Given the description of an element on the screen output the (x, y) to click on. 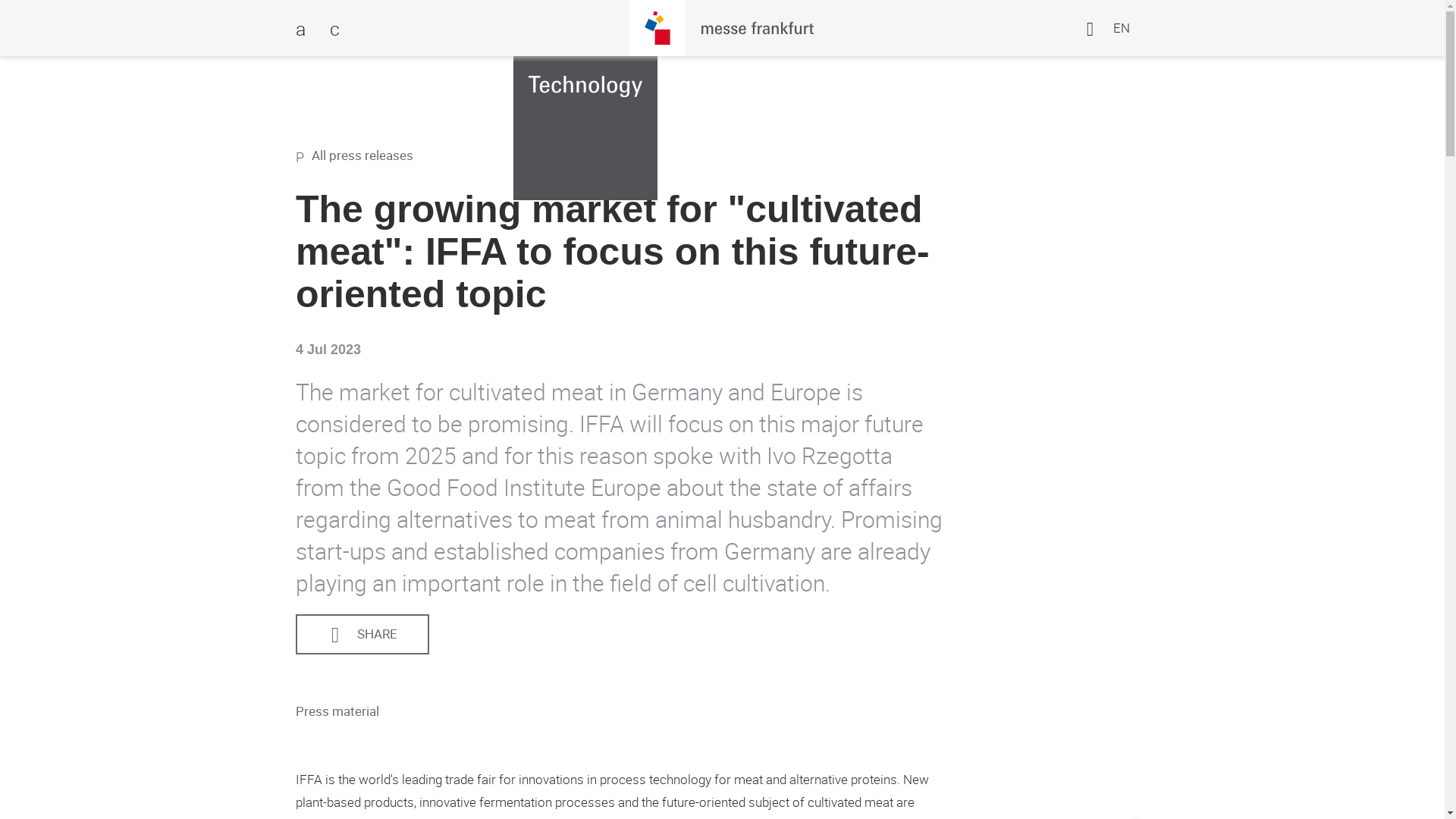
SHARE (362, 634)
Menu (308, 27)
EN (1107, 27)
All press releases (727, 156)
Press material (348, 710)
